Given the description of an element on the screen output the (x, y) to click on. 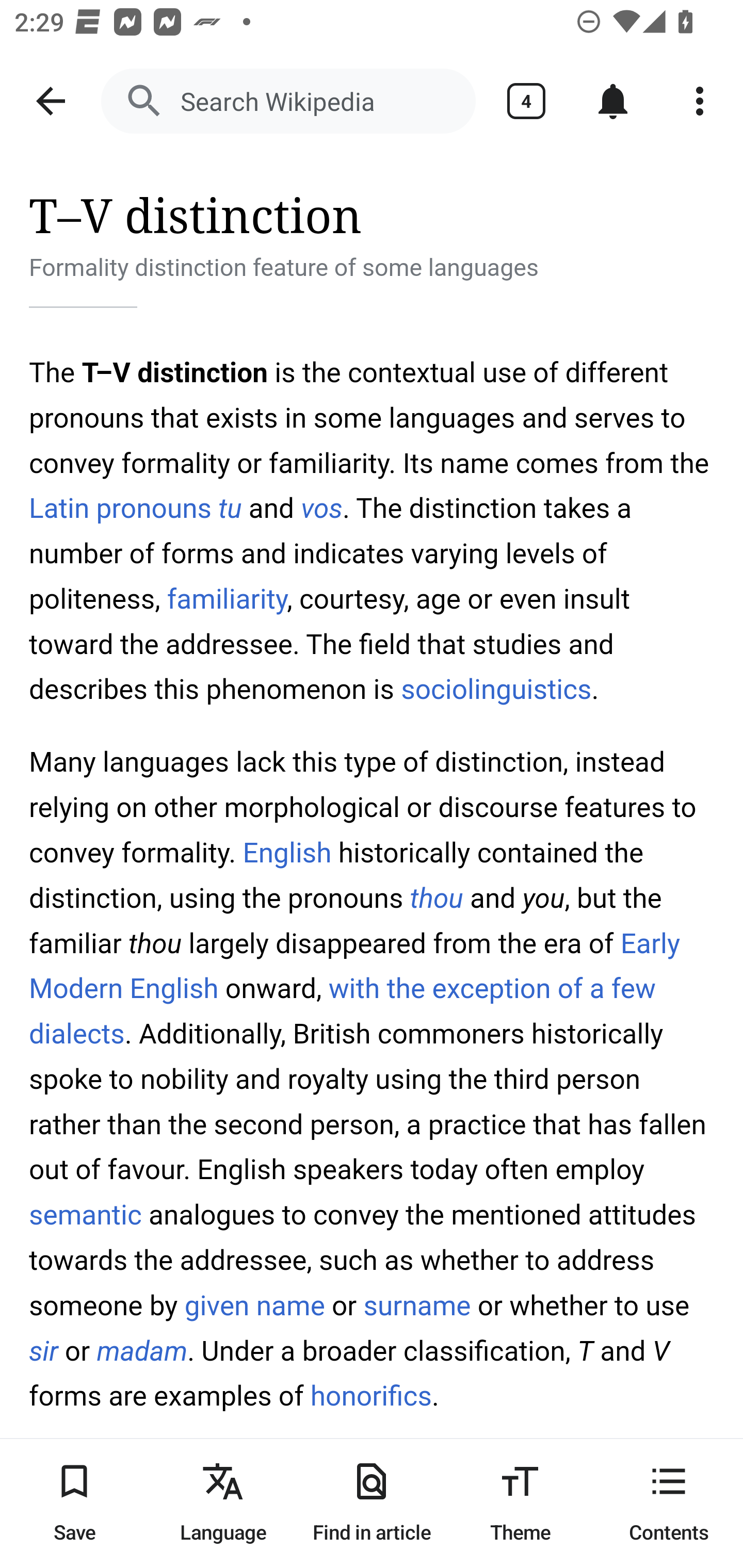
Show tabs 4 (525, 100)
Notifications (612, 100)
Navigate up (50, 101)
More options (699, 101)
Search Wikipedia (288, 100)
Latin (59, 507)
pronouns (154, 507)
tu (229, 507)
vos (321, 507)
familiarity (227, 597)
sociolinguistics (496, 689)
English (287, 852)
thou (435, 898)
with the exception of a few dialects (342, 1010)
semantic (85, 1214)
given name (255, 1305)
surname (416, 1305)
sir (43, 1351)
madam (142, 1351)
honorifics (370, 1395)
Save (74, 1502)
Language (222, 1502)
Find in article (371, 1502)
Theme (519, 1502)
Contents (668, 1502)
